Given the description of an element on the screen output the (x, y) to click on. 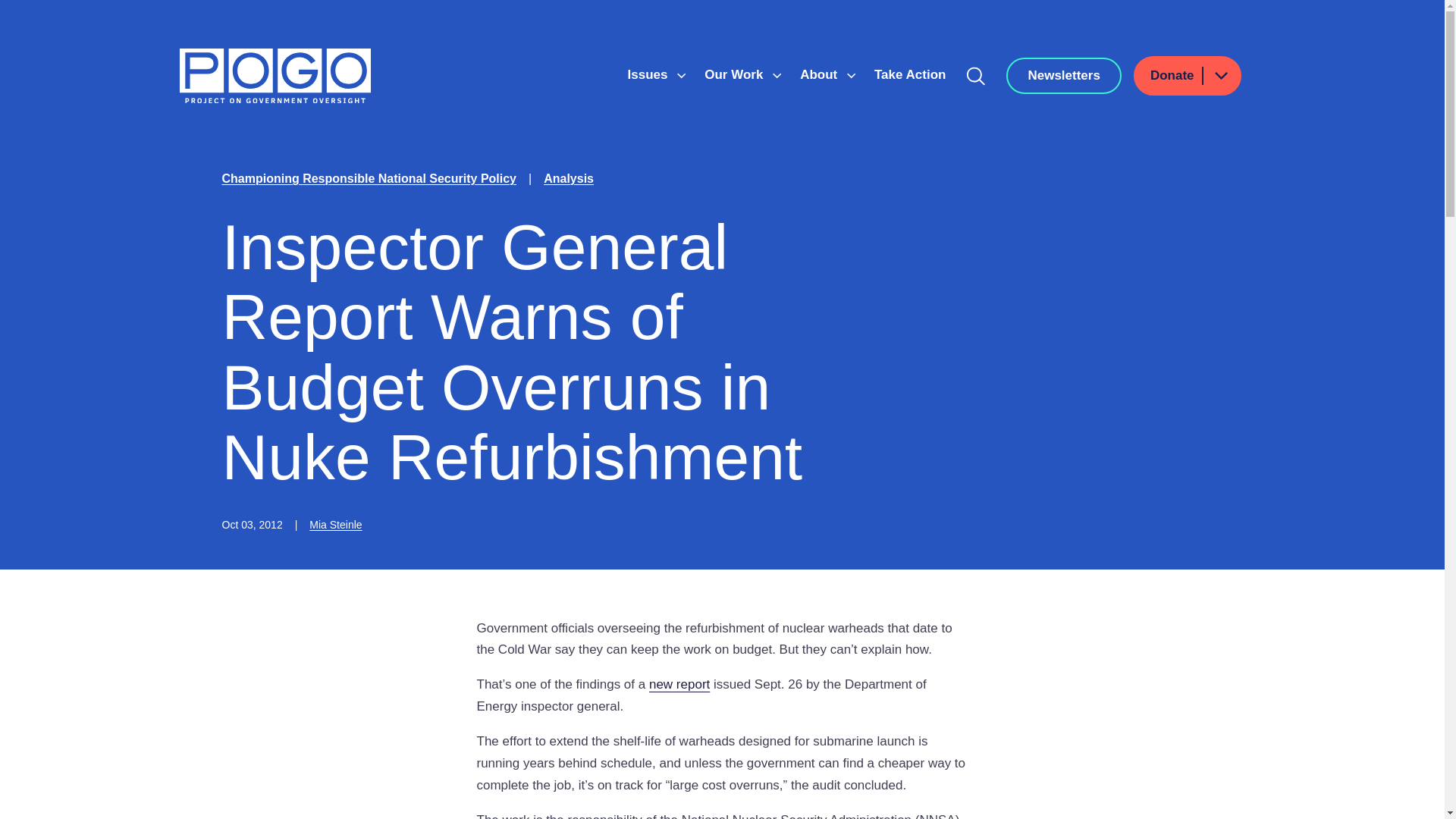
Newsletters (1063, 75)
Home (274, 75)
Show submenu for Donate (1220, 75)
Show submenu for Our Work (777, 75)
Take Action (909, 74)
Our Work (735, 74)
Donate (1187, 75)
About (820, 74)
Show submenu for About (851, 75)
Issues (649, 74)
